Given the description of an element on the screen output the (x, y) to click on. 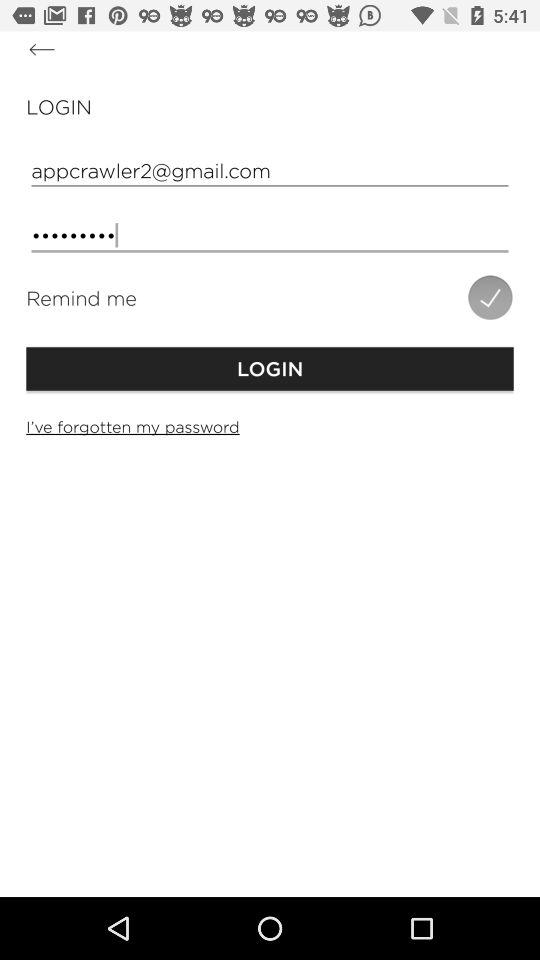
choose item below the login item (269, 426)
